Given the description of an element on the screen output the (x, y) to click on. 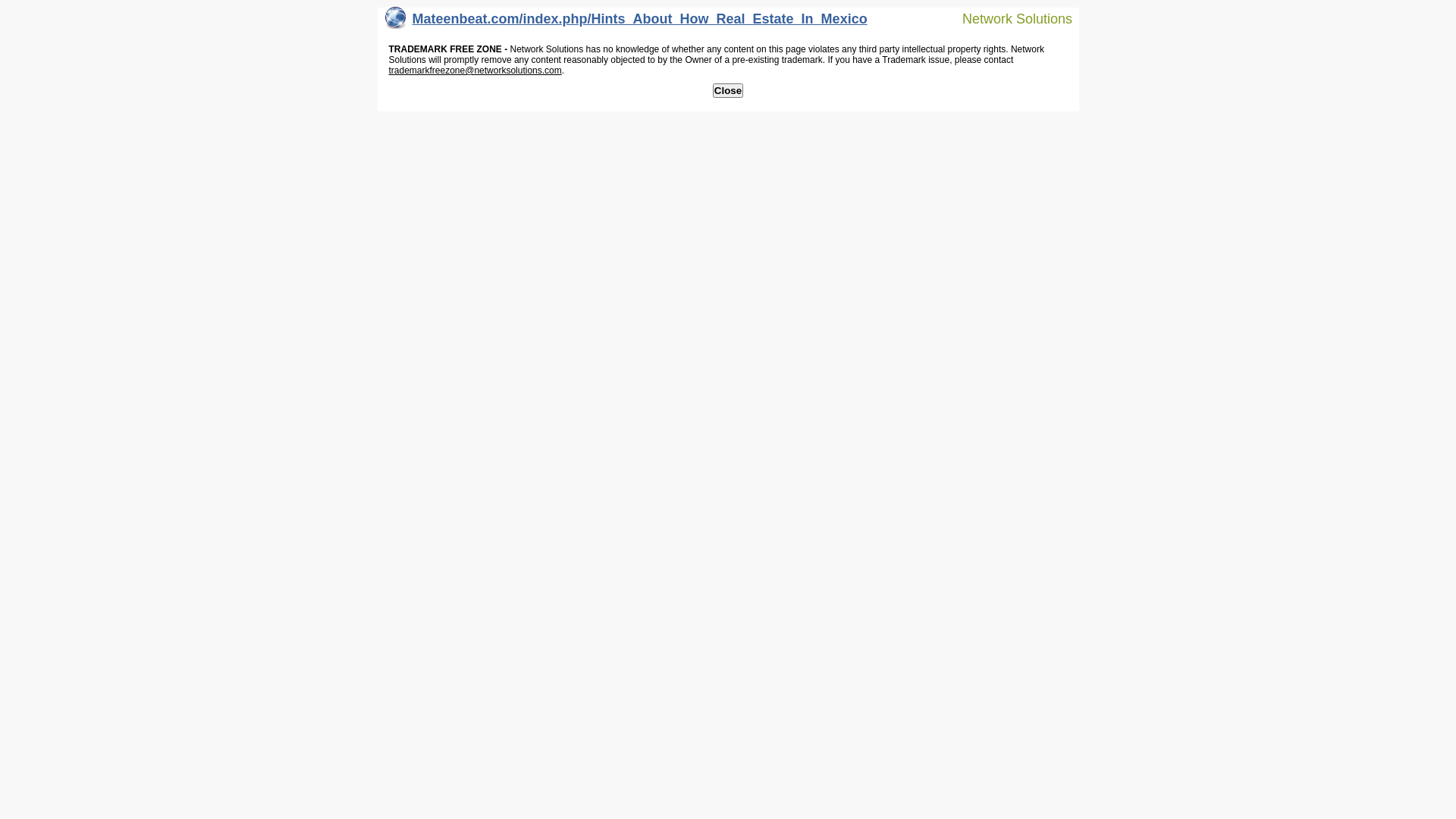
Close Element type: text (727, 90)
Network Solutions Element type: text (1007, 17)
trademarkfreezone@networksolutions.com Element type: text (474, 70)
